Given the description of an element on the screen output the (x, y) to click on. 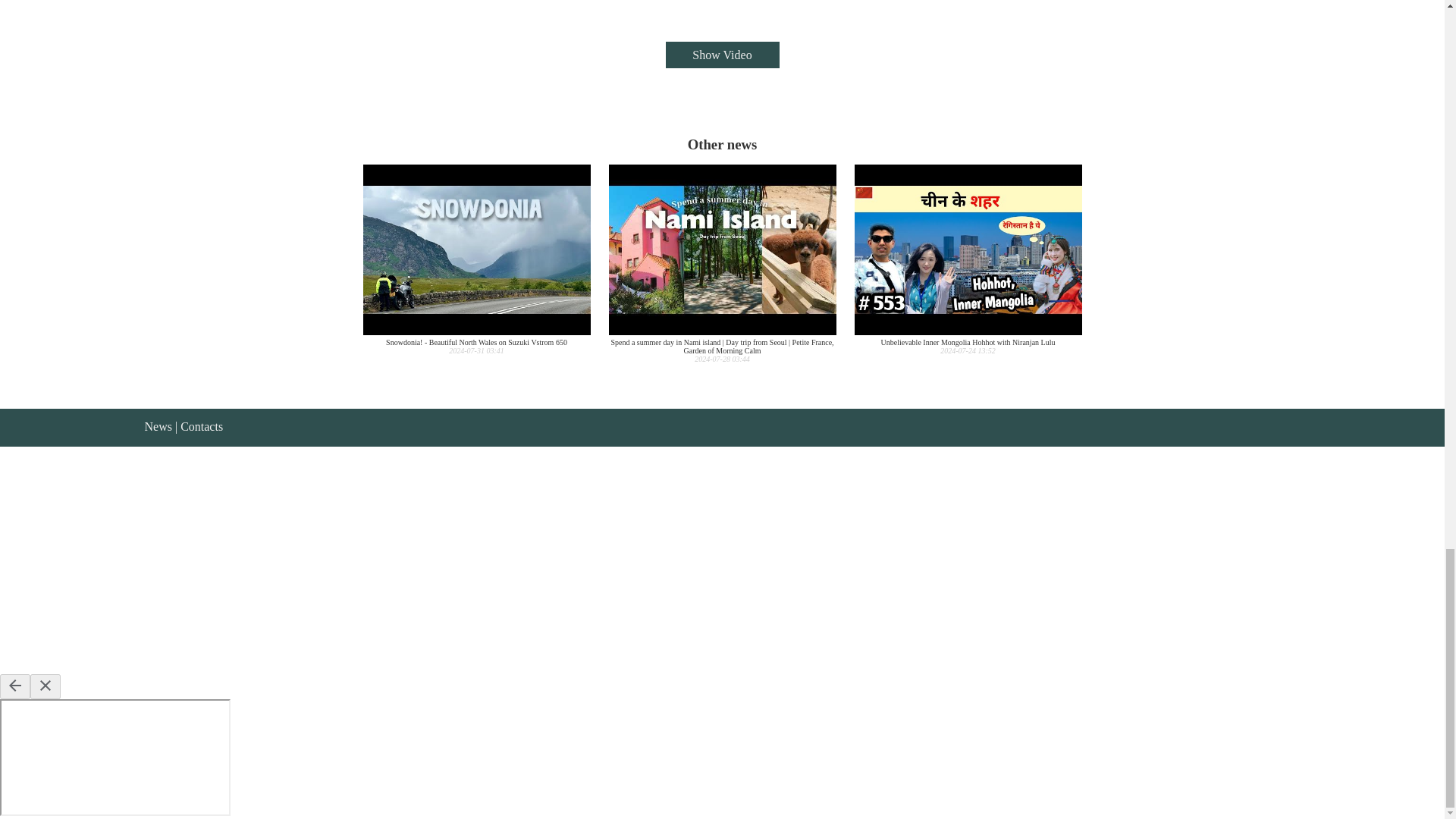
Contacts (201, 426)
Unbelievable Inner Mongolia Hohhot with Niranjan Lulu (967, 259)
Snowdonia! - Beautiful North Wales on Suzuki Vstrom 650 (475, 259)
News (157, 426)
